Given the description of an element on the screen output the (x, y) to click on. 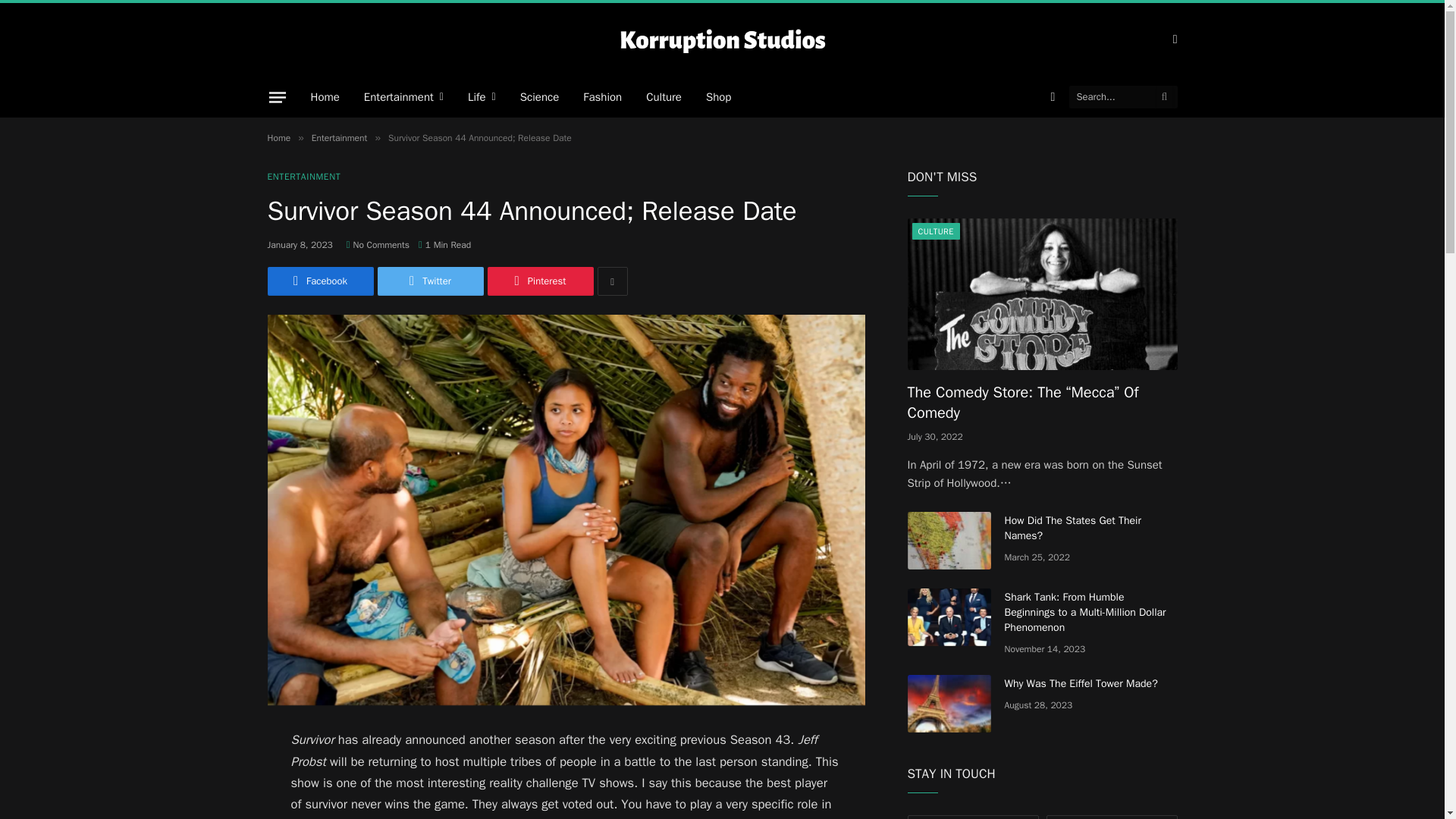
Life (481, 96)
Home (325, 96)
Entertainment (403, 96)
Korruption Studios (721, 39)
